Given the description of an element on the screen output the (x, y) to click on. 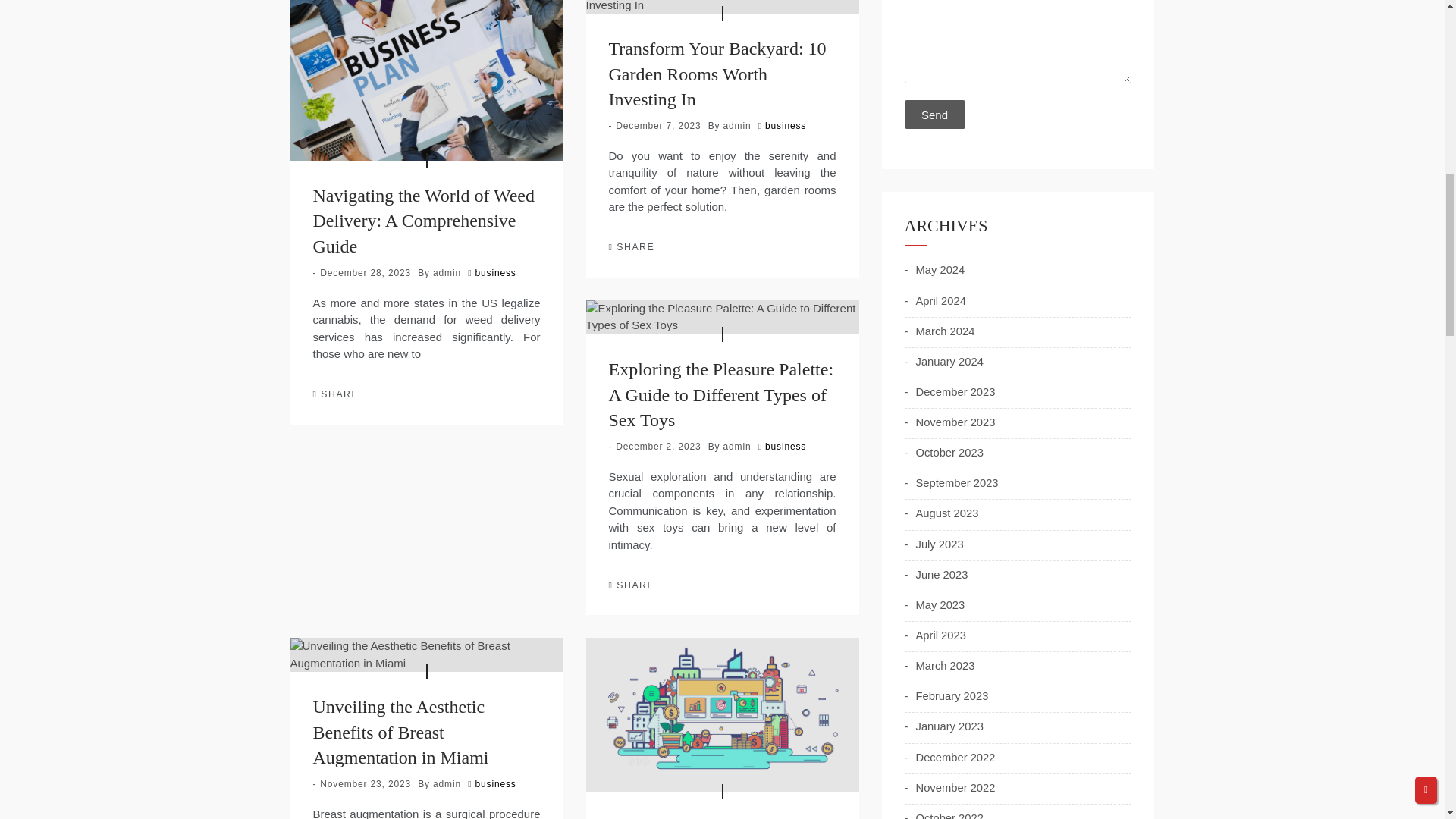
Transform Your Backyard: 10 Garden Rooms Worth Investing In (716, 73)
business (496, 272)
admin (446, 272)
Send (933, 113)
Navigating the World of Weed Delivery: A Comprehensive Guide (423, 220)
December 28, 2023 (365, 272)
